Given the description of an element on the screen output the (x, y) to click on. 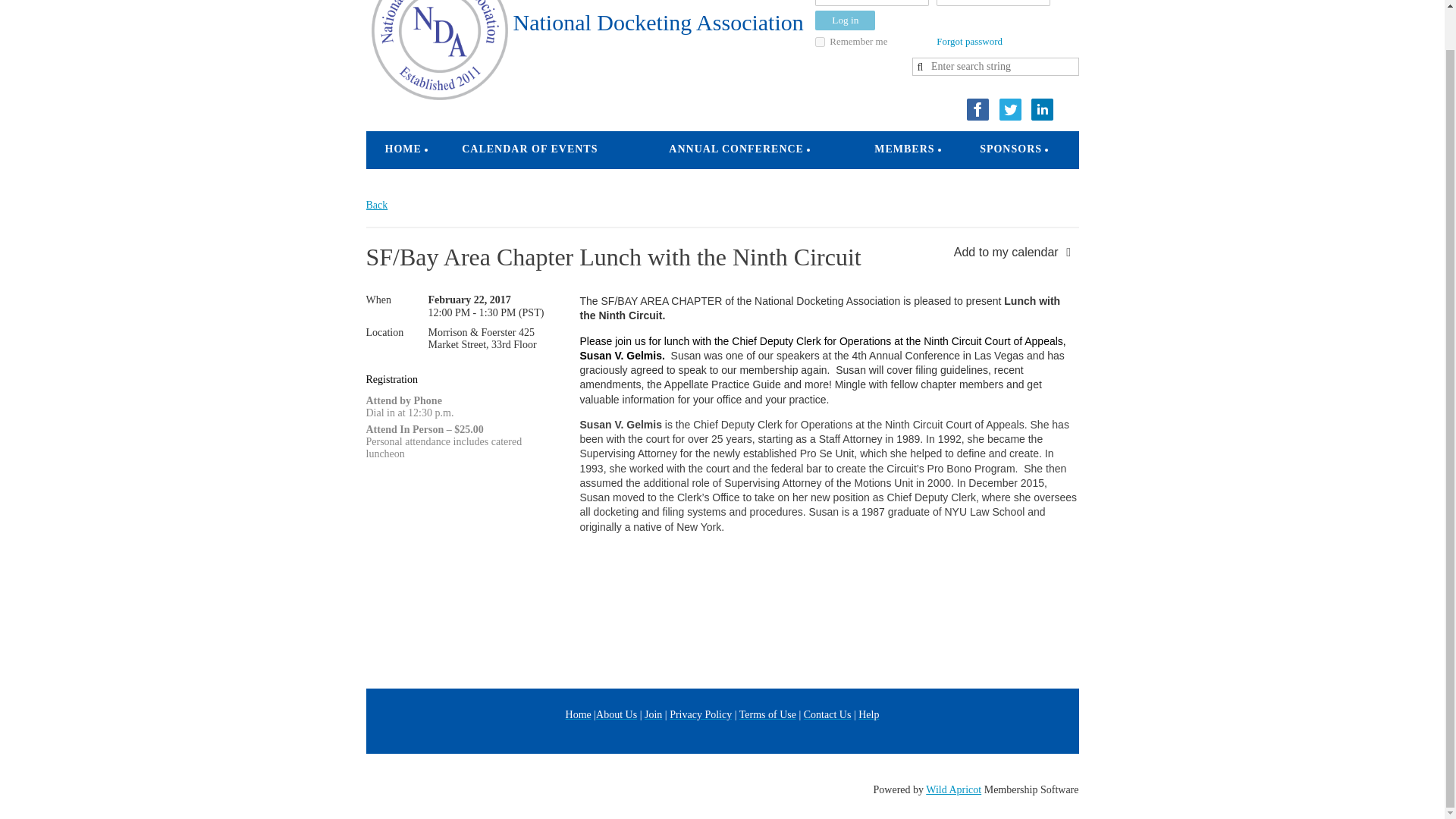
Annual Conference (735, 149)
Log in (845, 20)
ANNUAL CONFERENCE (735, 149)
SPONSORS (1011, 149)
Log in (845, 20)
Forgot password (969, 41)
Back (376, 204)
Calendar of Events (529, 149)
on (820, 41)
Members (903, 149)
MEMBERS (903, 149)
HOME (397, 149)
CALENDAR OF EVENTS (529, 149)
Facebook (977, 109)
LinkedIn (1041, 109)
